Given the description of an element on the screen output the (x, y) to click on. 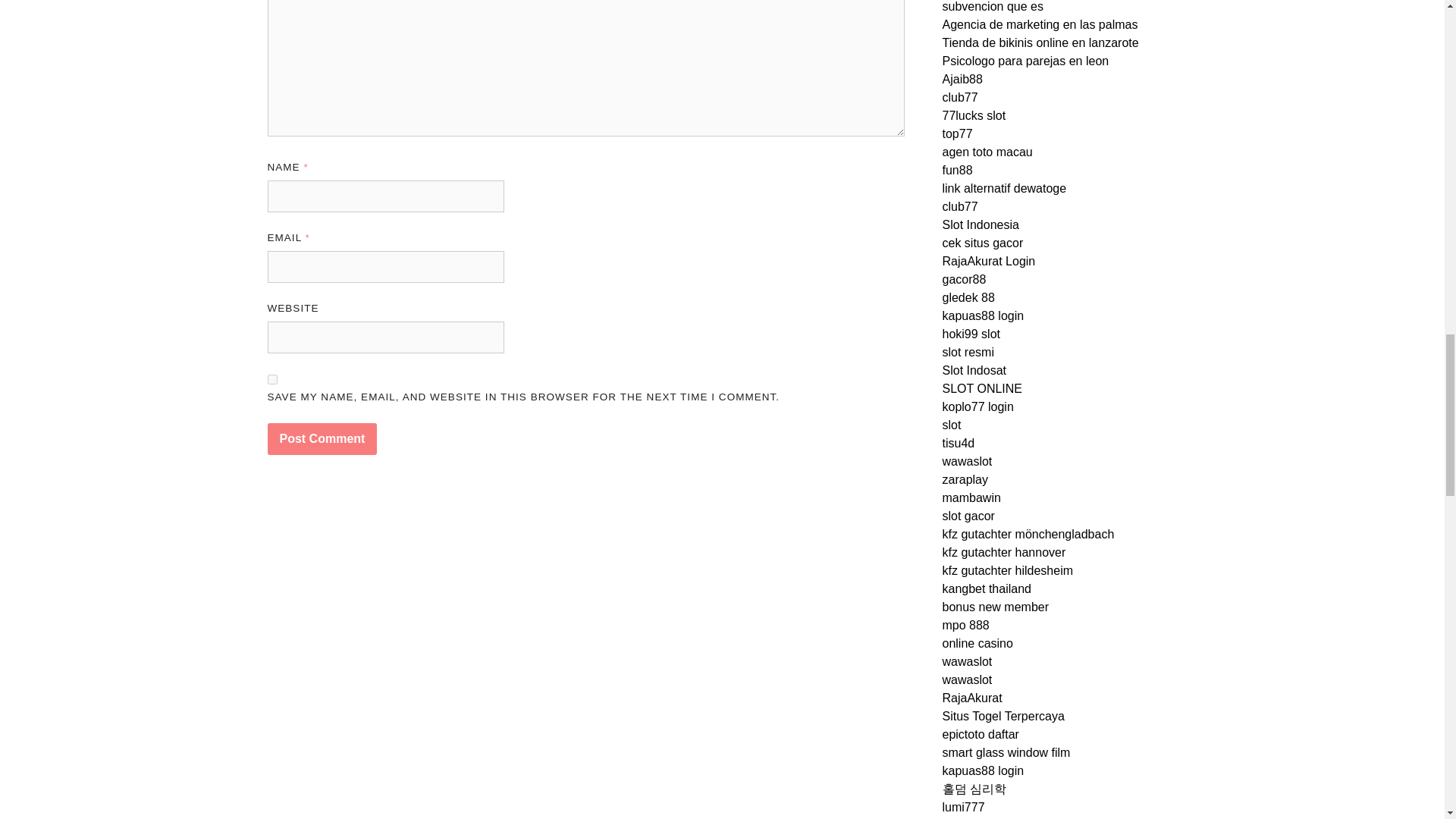
yes (271, 379)
Post Comment (321, 439)
Post Comment (321, 439)
